Given the description of an element on the screen output the (x, y) to click on. 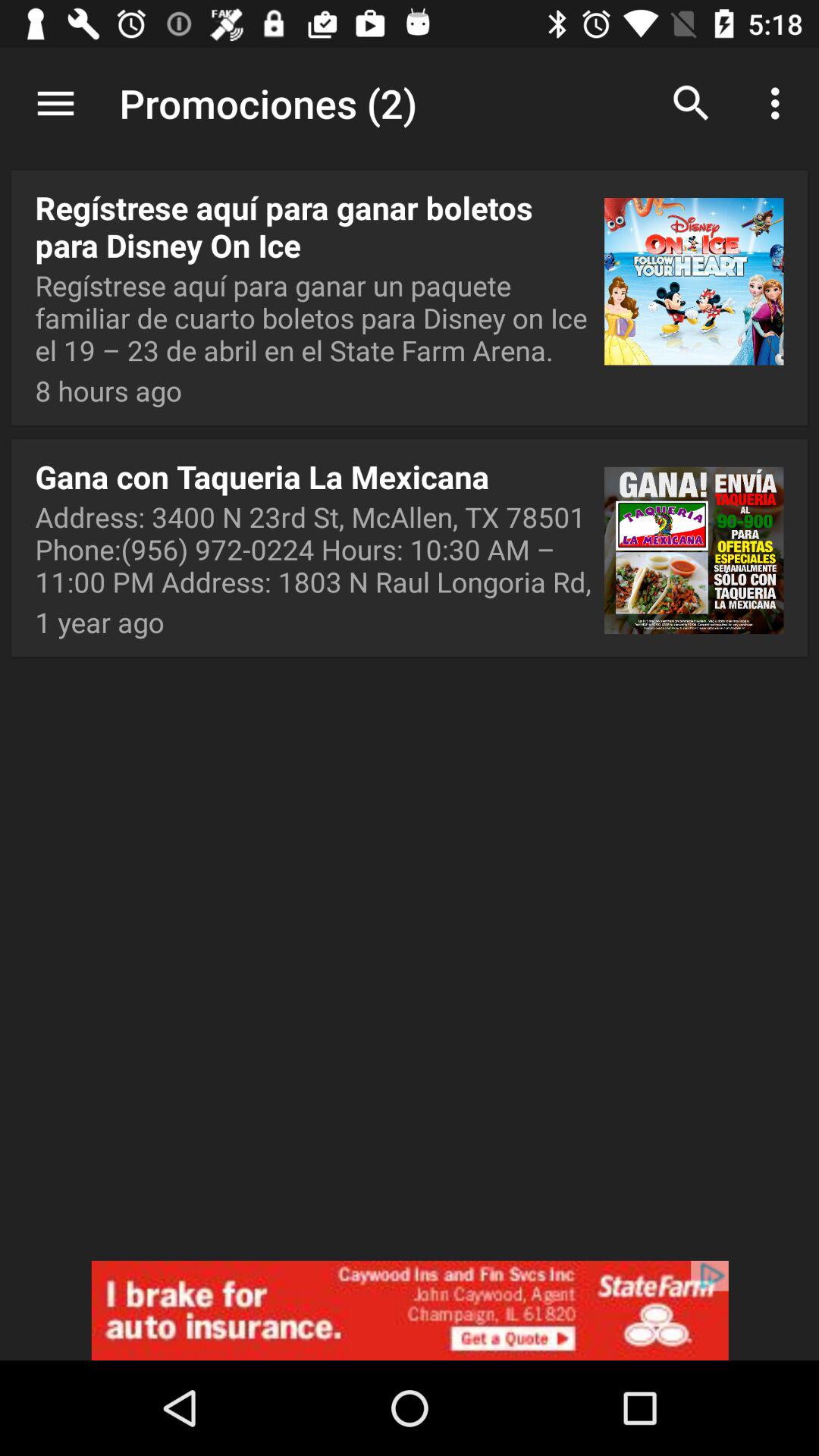
adverdisment notification (409, 1310)
